Given the description of an element on the screen output the (x, y) to click on. 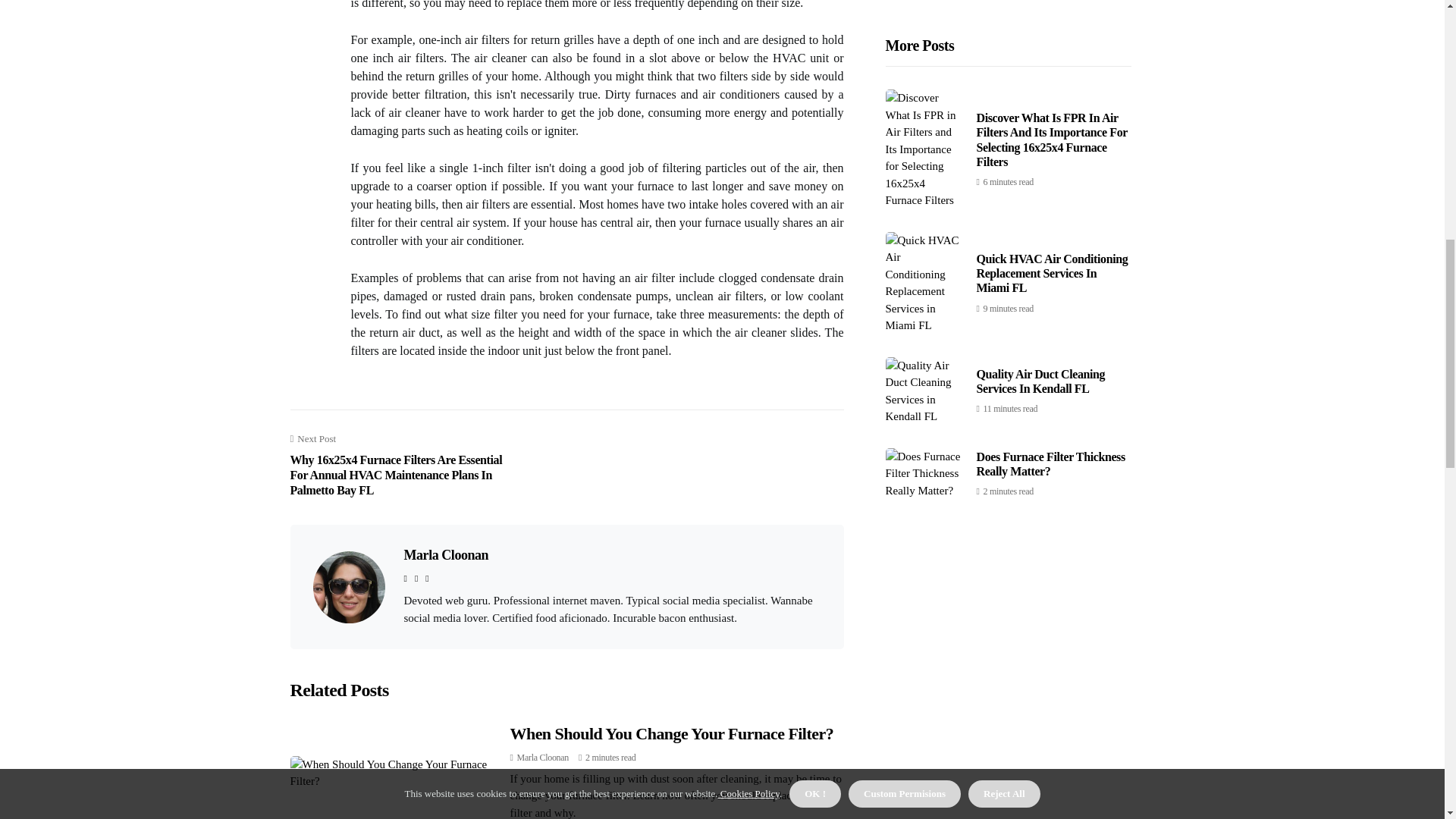
Marla Cloonan (542, 757)
Quality Air Duct Cleaning Services In Kendall FL (1040, 63)
Marla Cloonan (445, 554)
When Should You Change Your Furnace Filter? (670, 732)
Does Furnace Filter Thickness Really Matter? (1050, 146)
Posts by Marla Cloonan (542, 757)
